Given the description of an element on the screen output the (x, y) to click on. 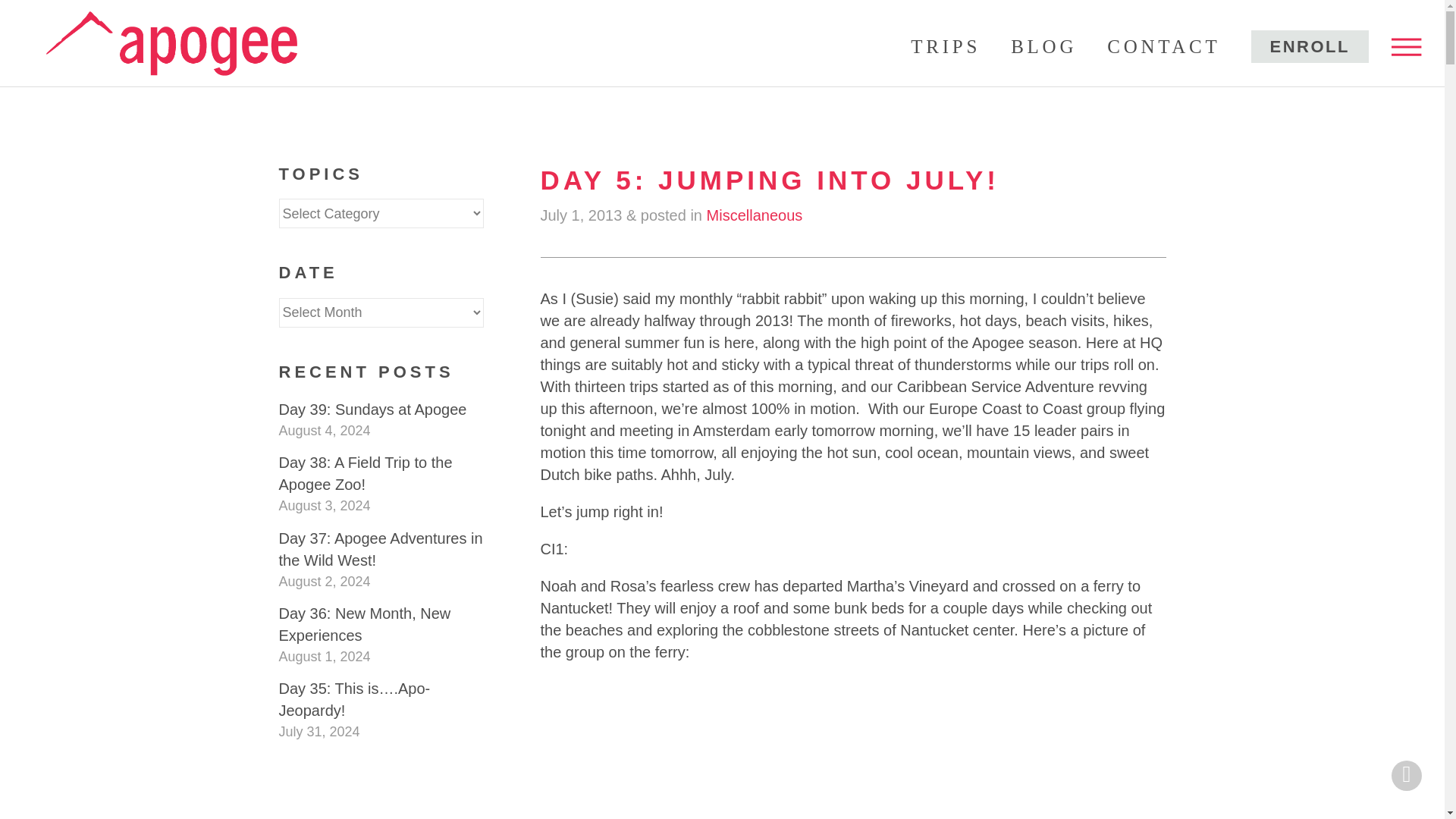
CONTACT (1163, 46)
Apogee Adventures (171, 39)
ENROLL (1309, 46)
Miscellaneous (754, 215)
TRIPS (945, 46)
BLOG (1043, 46)
BLOG (1043, 46)
TRIPS (945, 46)
ENROLL (1309, 46)
CONTACT (1163, 46)
